Given the description of an element on the screen output the (x, y) to click on. 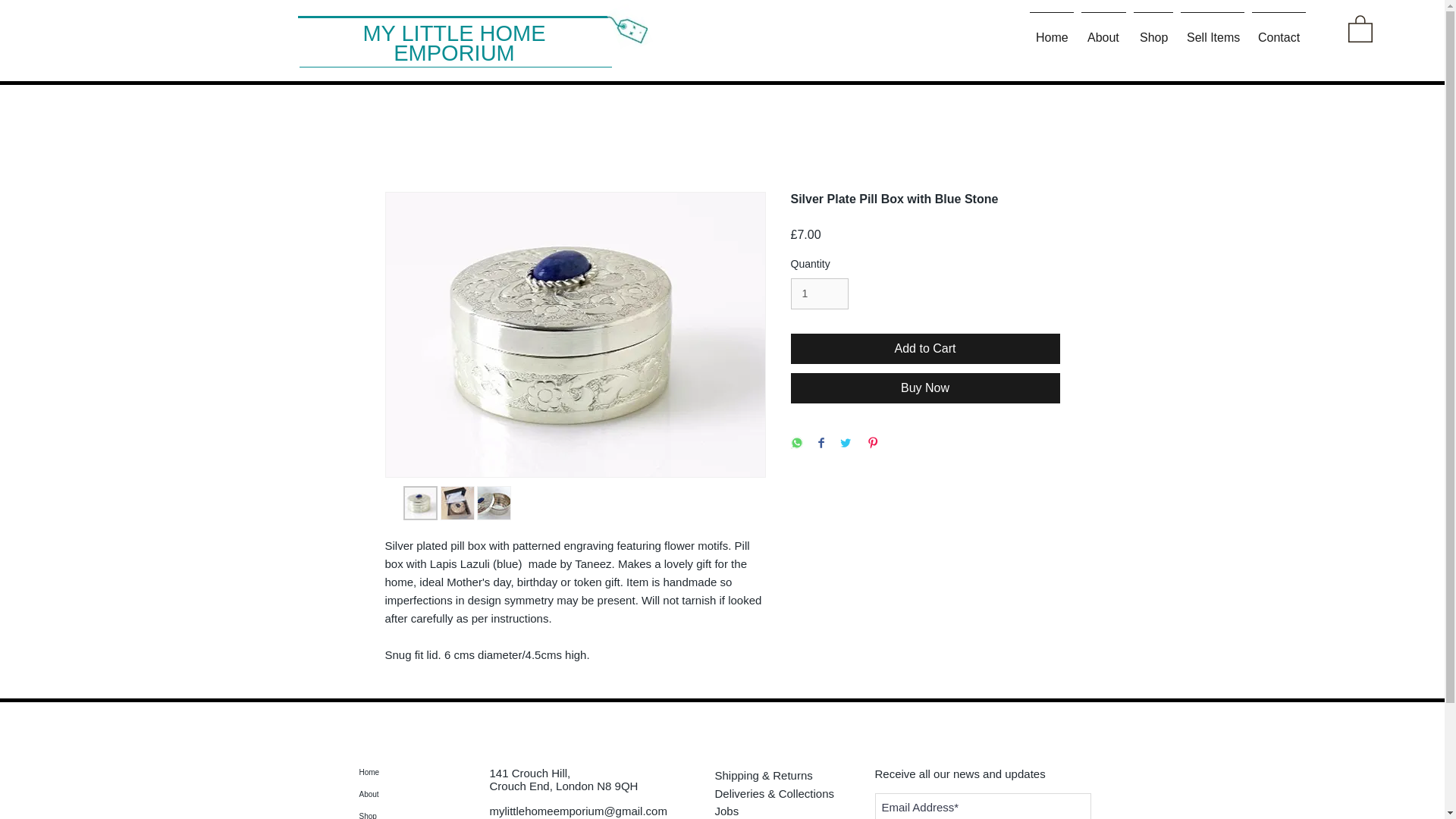
1 (818, 293)
Shop (1152, 30)
Home (419, 771)
Jobs (782, 810)
Home (1051, 30)
Add to Cart (924, 348)
Shop (419, 812)
MY LITTLE HOME EMPORIUM (453, 43)
Buy Now (924, 388)
Sell Items (1211, 30)
About (1103, 30)
About (419, 793)
Contact (1277, 30)
